Given the description of an element on the screen output the (x, y) to click on. 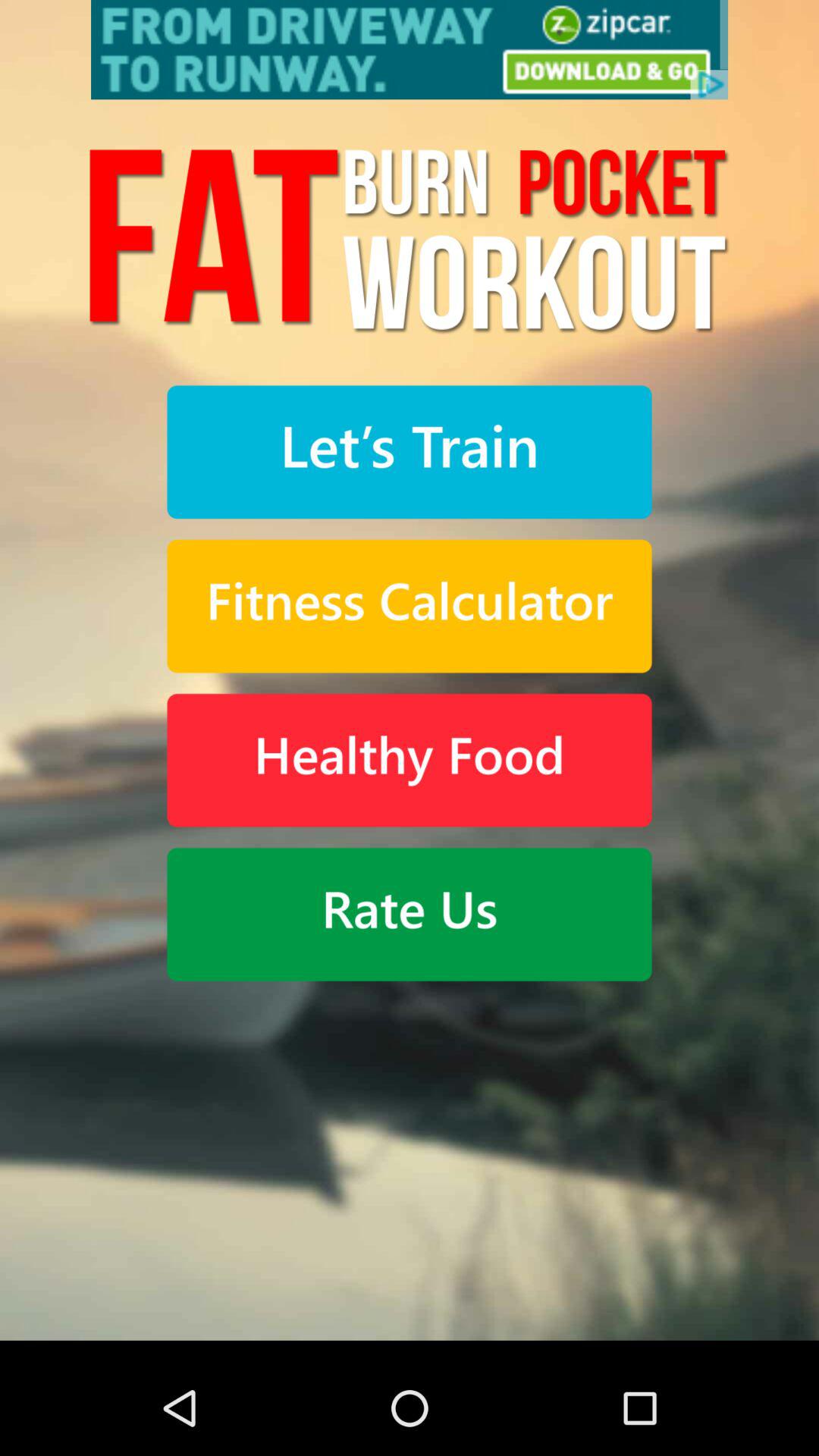
toggle option (409, 452)
